Given the description of an element on the screen output the (x, y) to click on. 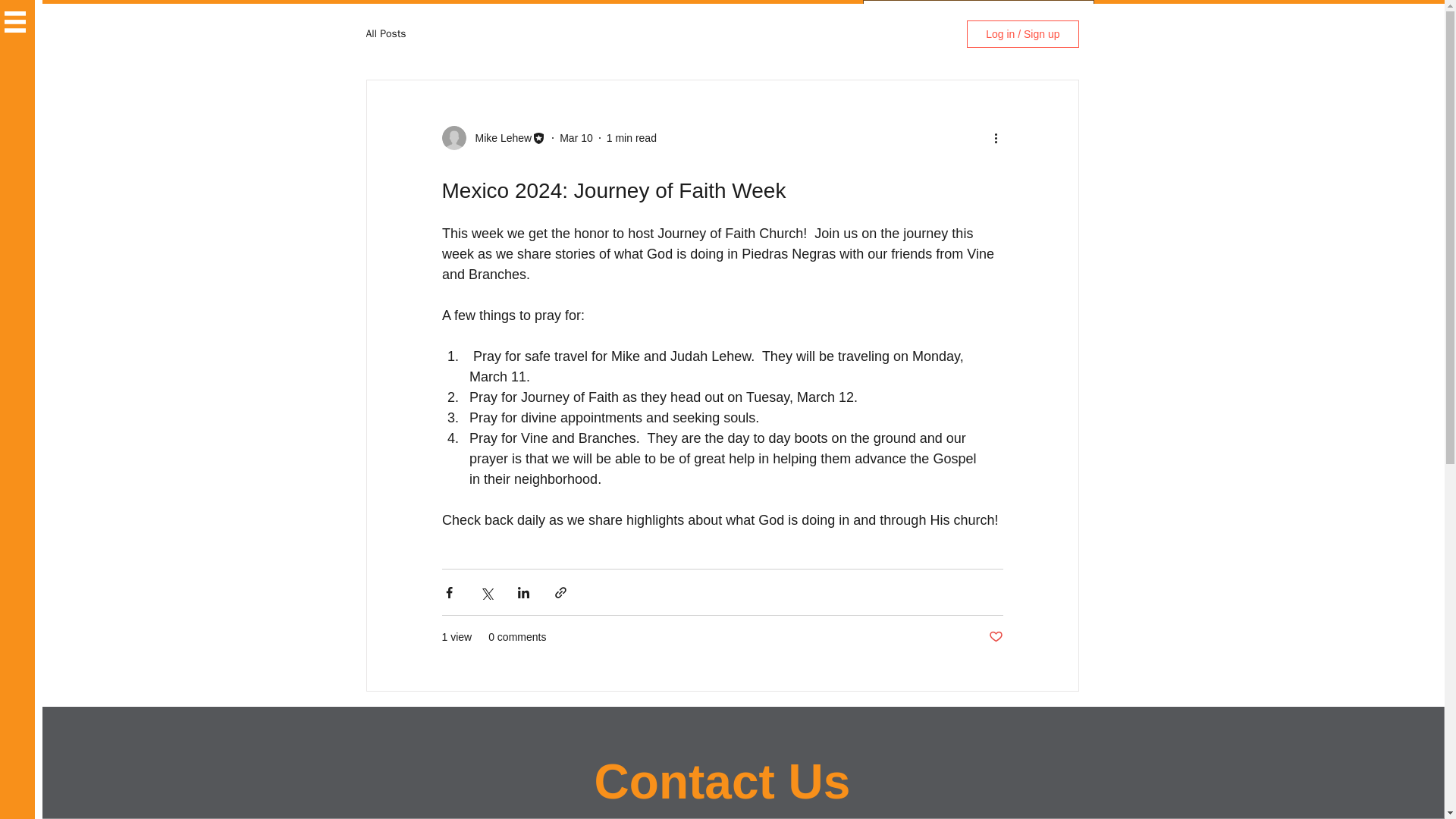
All Posts (385, 33)
1 min read (631, 137)
Post not marked as liked (995, 637)
Mar 10 (575, 137)
Mike Lehew (498, 138)
